Given the description of an element on the screen output the (x, y) to click on. 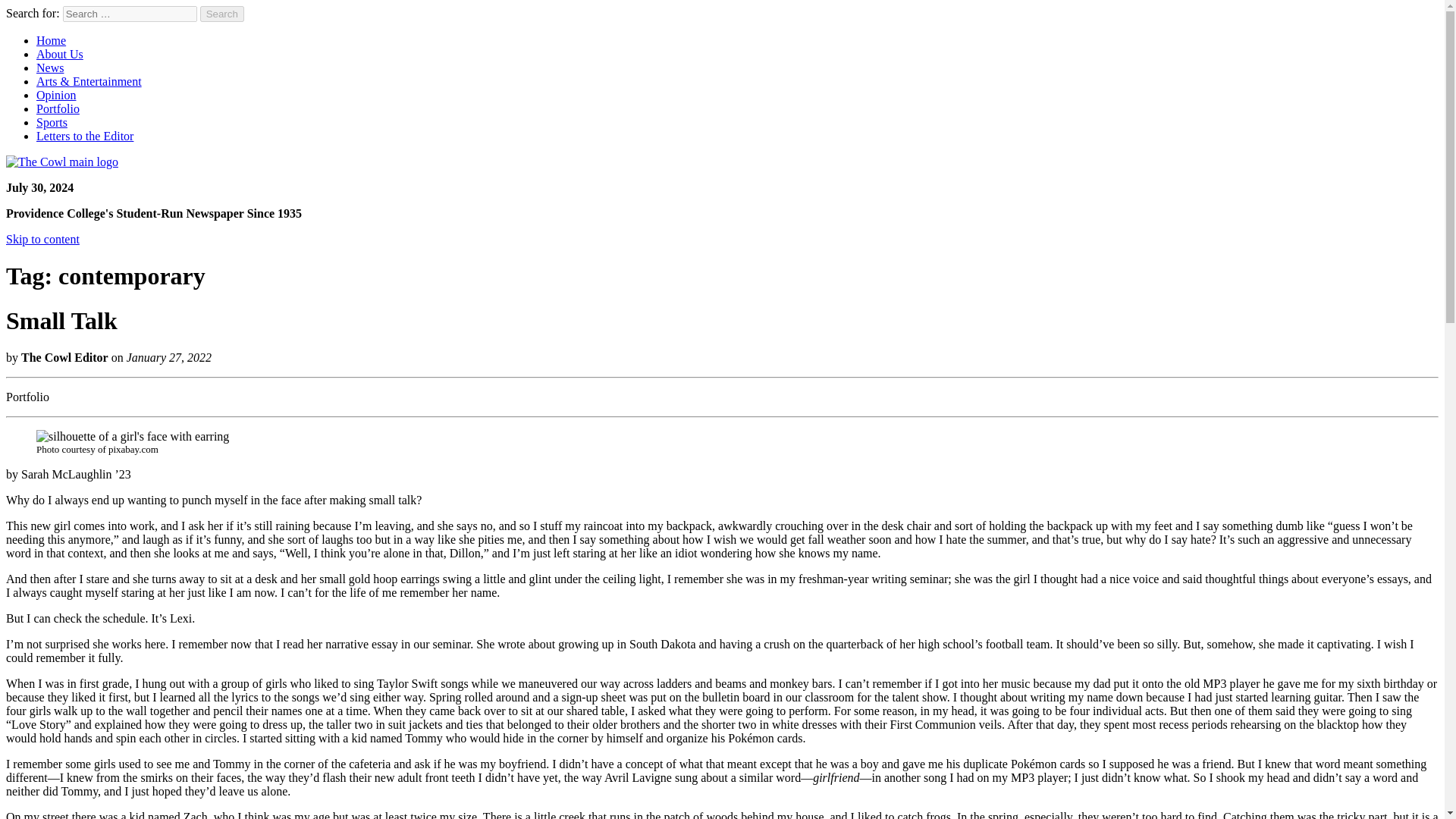
Sports (51, 122)
Opinion (55, 94)
Search (222, 13)
About Us (59, 53)
Home (50, 40)
Portfolio (58, 108)
Search (222, 13)
Skip to content (42, 238)
News (50, 67)
Search (222, 13)
Letters to the Editor (84, 135)
